Given the description of an element on the screen output the (x, y) to click on. 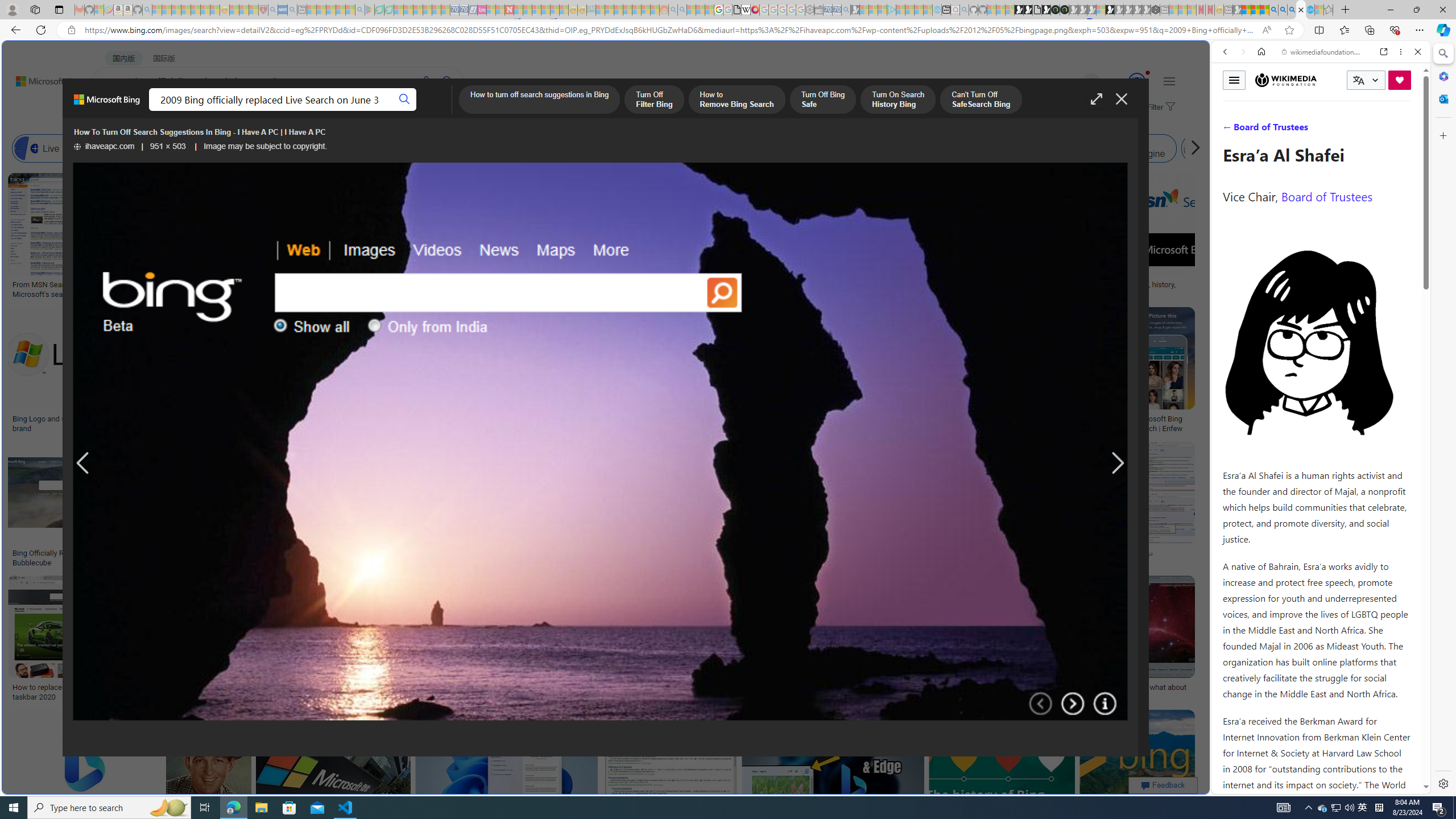
Bing - SEOLendSave (280, 505)
Bing: rebranding search: idsgn (a design blog)Save (701, 237)
Remove the 'News & Interests' bar from Bing | TechLife (860, 419)
Technology History timeline | Timetoast timelines (833, 289)
Turn On Search History Bing (898, 100)
Play Free Online Games | Games from Microsoft Start (1018, 9)
Play Cave FRVR in your browser | Games from Microsoft Start (922, 242)
Microsoft Live Logo (419, 284)
Animation (1147, 72)
